Given the description of an element on the screen output the (x, y) to click on. 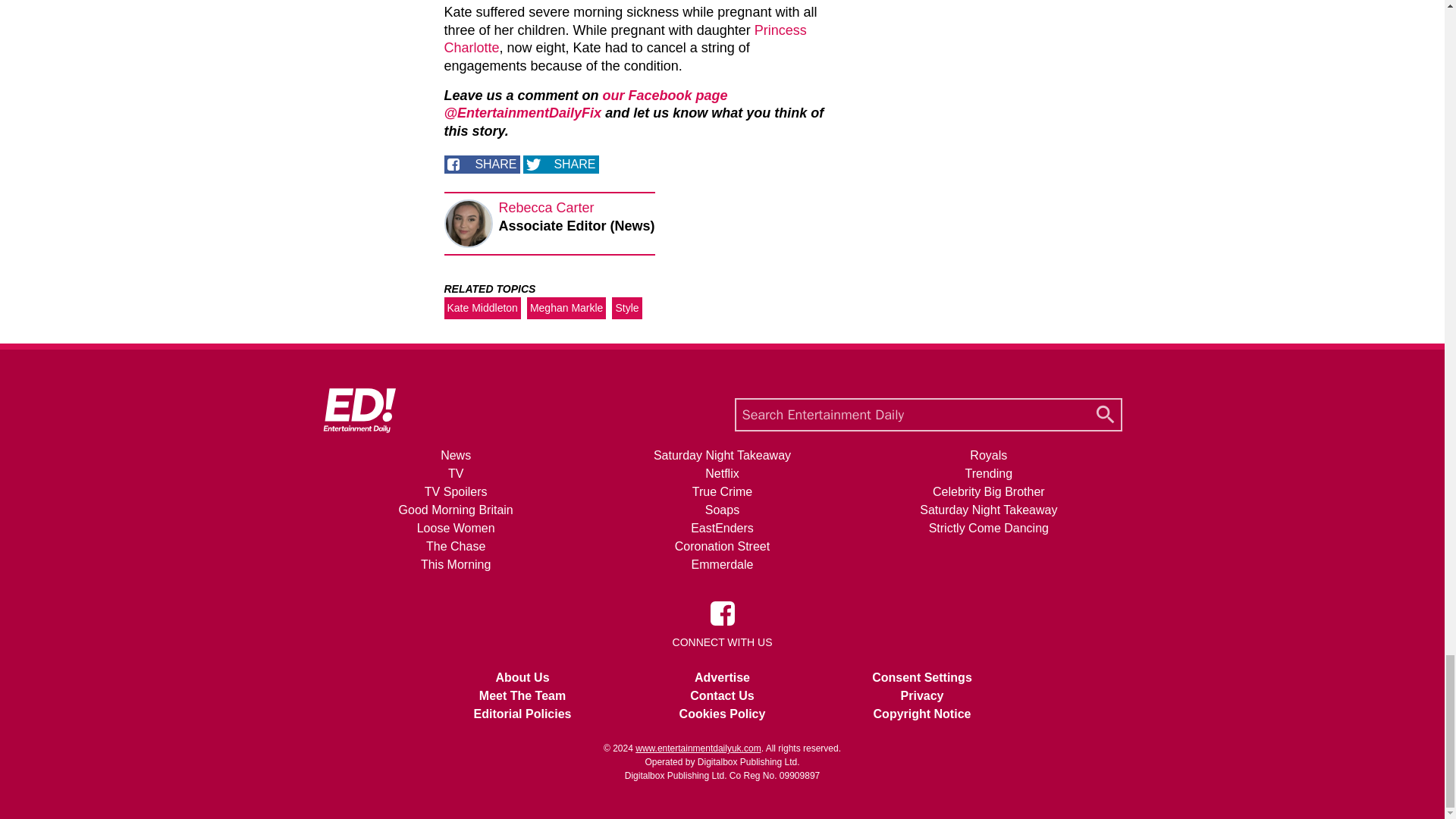
SHARE (481, 164)
SHARE (560, 164)
Princess Charlotte (625, 38)
